Given the description of an element on the screen output the (x, y) to click on. 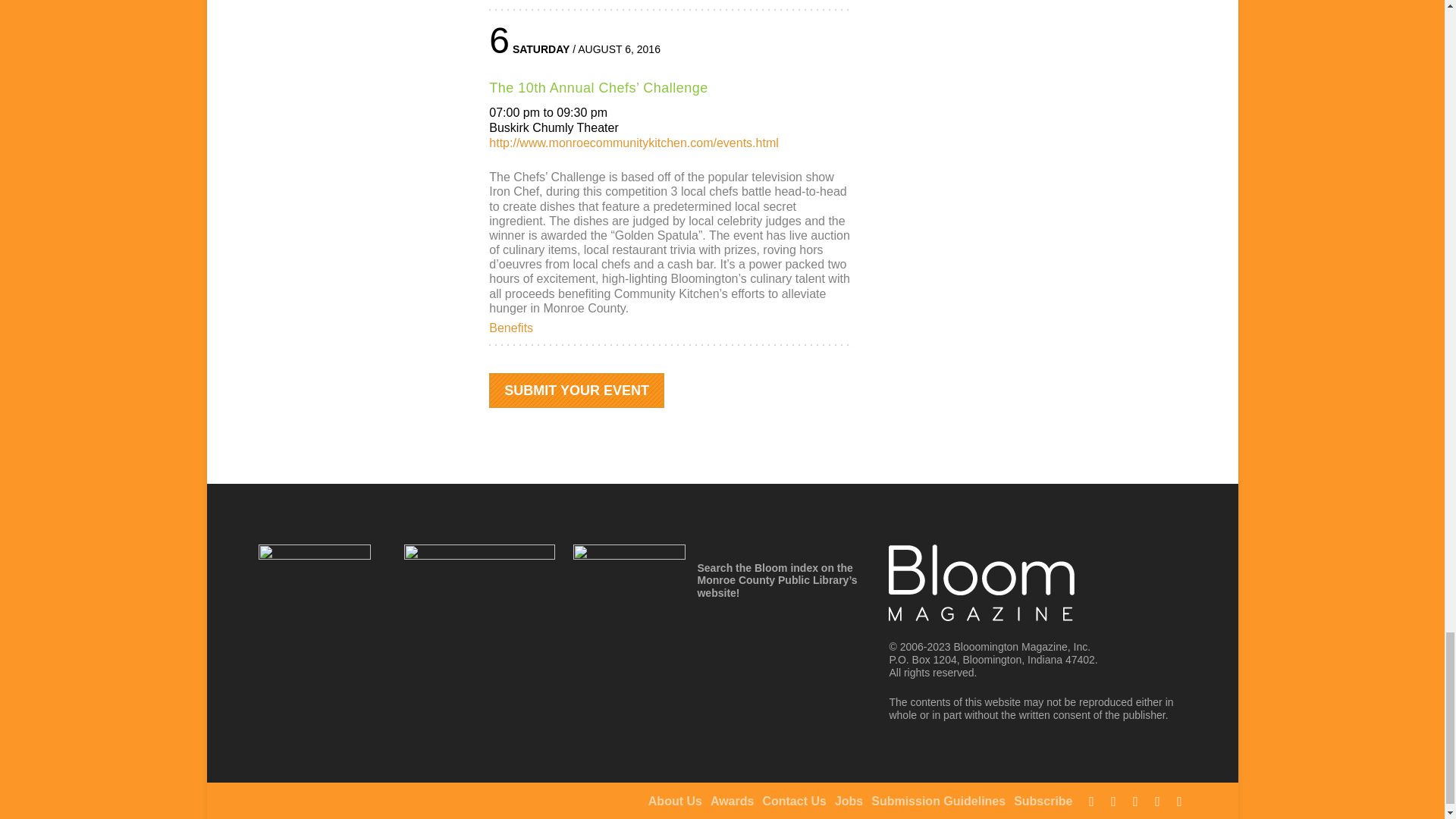
Premium WordPress Themes (349, 800)
